Given the description of an element on the screen output the (x, y) to click on. 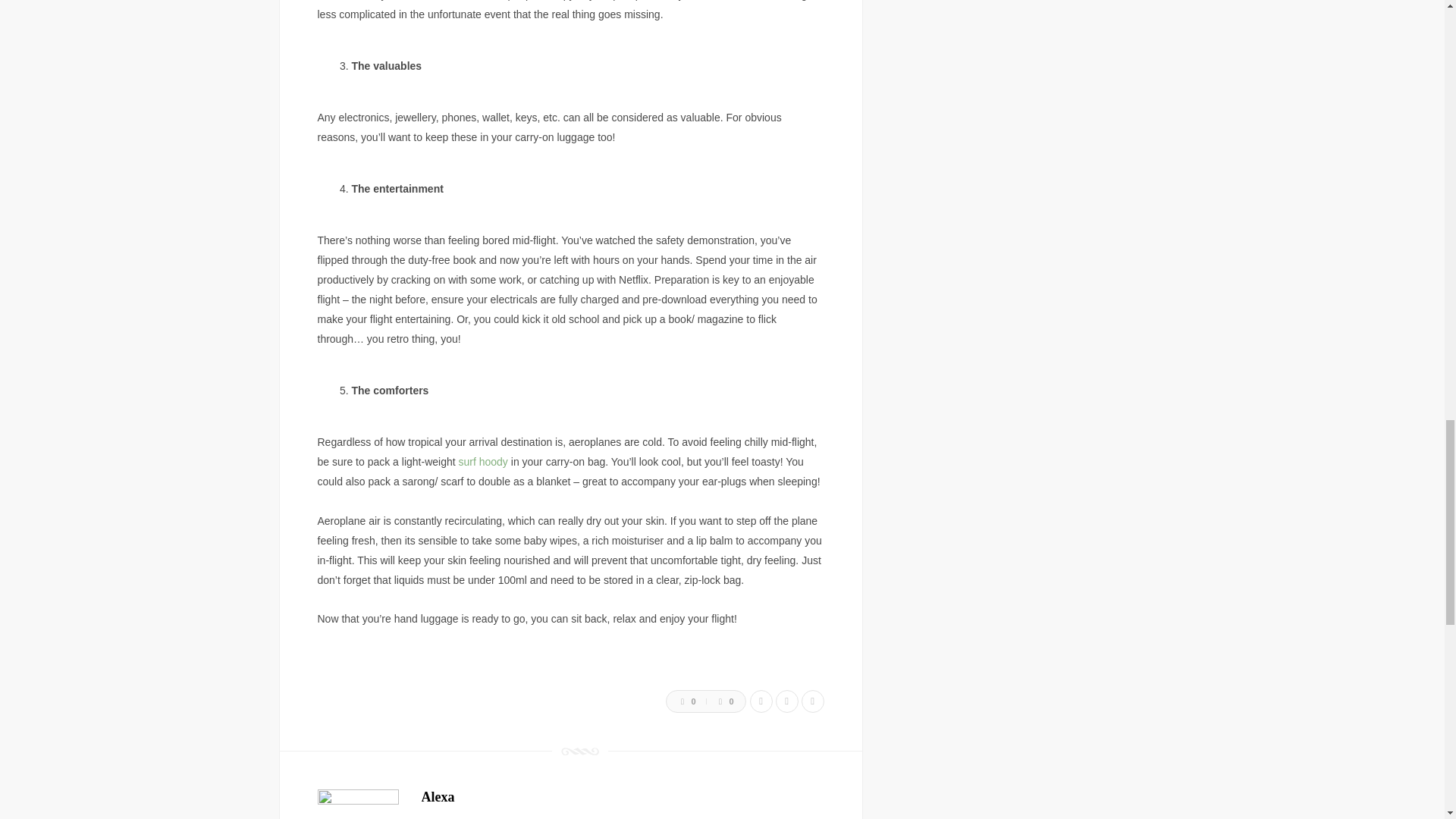
0 (680, 700)
Alexa (438, 796)
surf hoody (482, 461)
Posts by Alexa (438, 796)
